Given the description of an element on the screen output the (x, y) to click on. 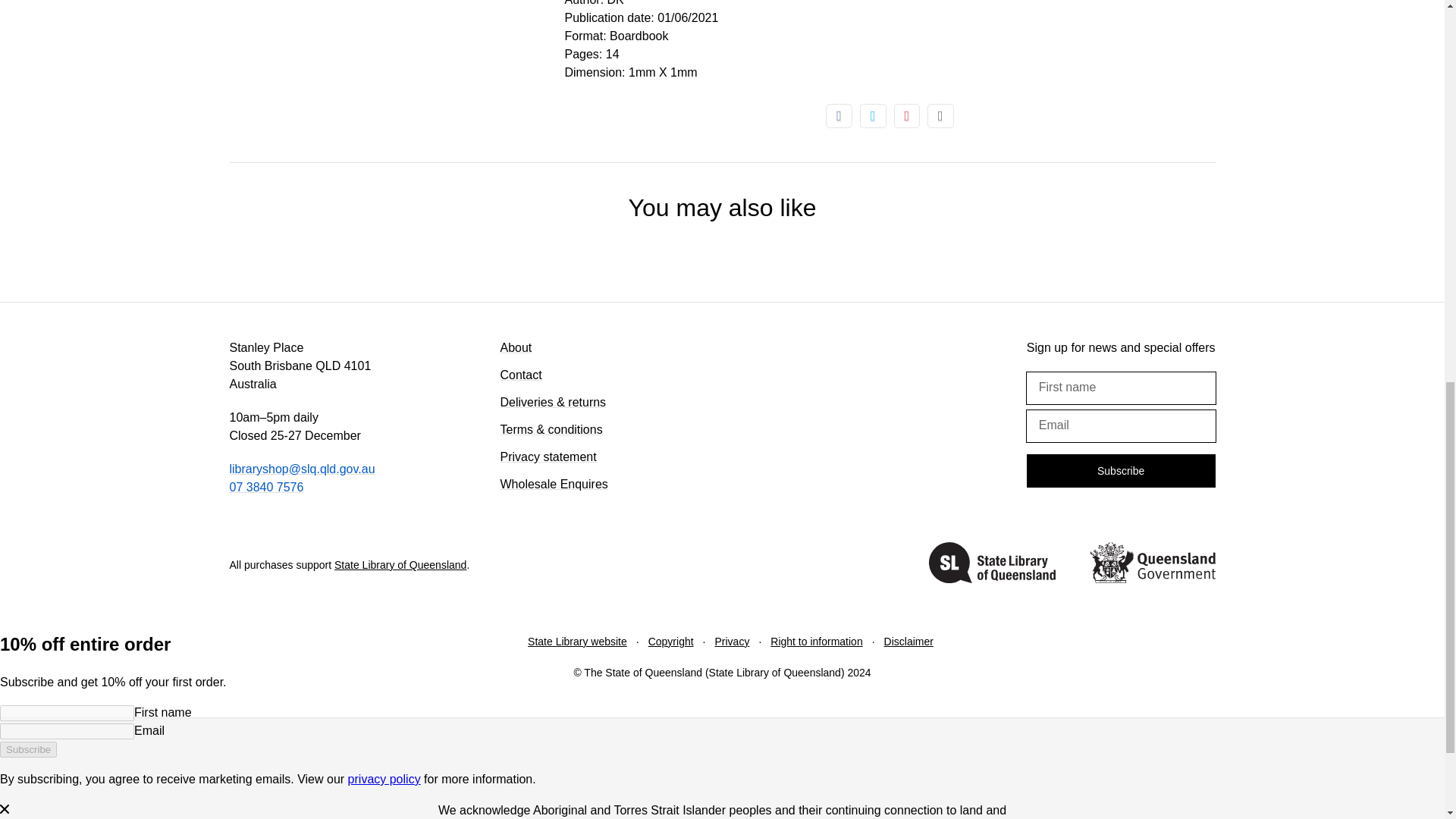
tel:07 3840 7576 (265, 486)
Go to Queensland State Library homepage (992, 565)
Go to Queensland Government homepage (1151, 565)
